Given the description of an element on the screen output the (x, y) to click on. 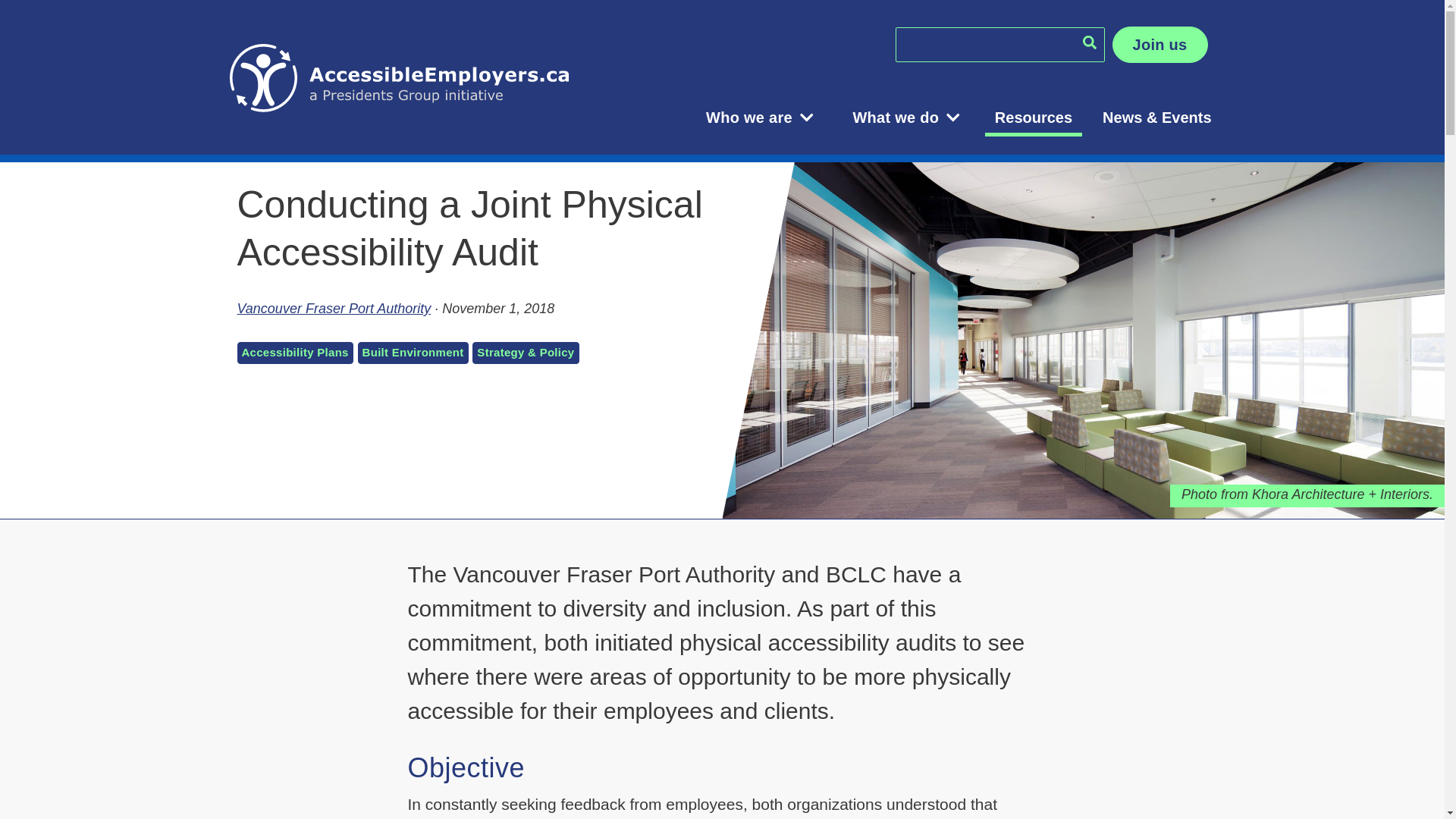
News & Events Element type: text (1156, 117)
Resources Element type: text (1033, 117)
Vancouver Fraser Port Authority Element type: text (333, 308)
What we do Element type: text (905, 117)
Accessibility Plans Element type: text (294, 353)
AccessibleEmployers.ca Element type: text (415, 77)
Strategy & Policy Element type: text (525, 353)
Built Environment Element type: text (412, 353)
Join us Element type: text (1160, 44)
search Element type: text (1089, 42)
Who we are Element type: text (759, 117)
